Given the description of an element on the screen output the (x, y) to click on. 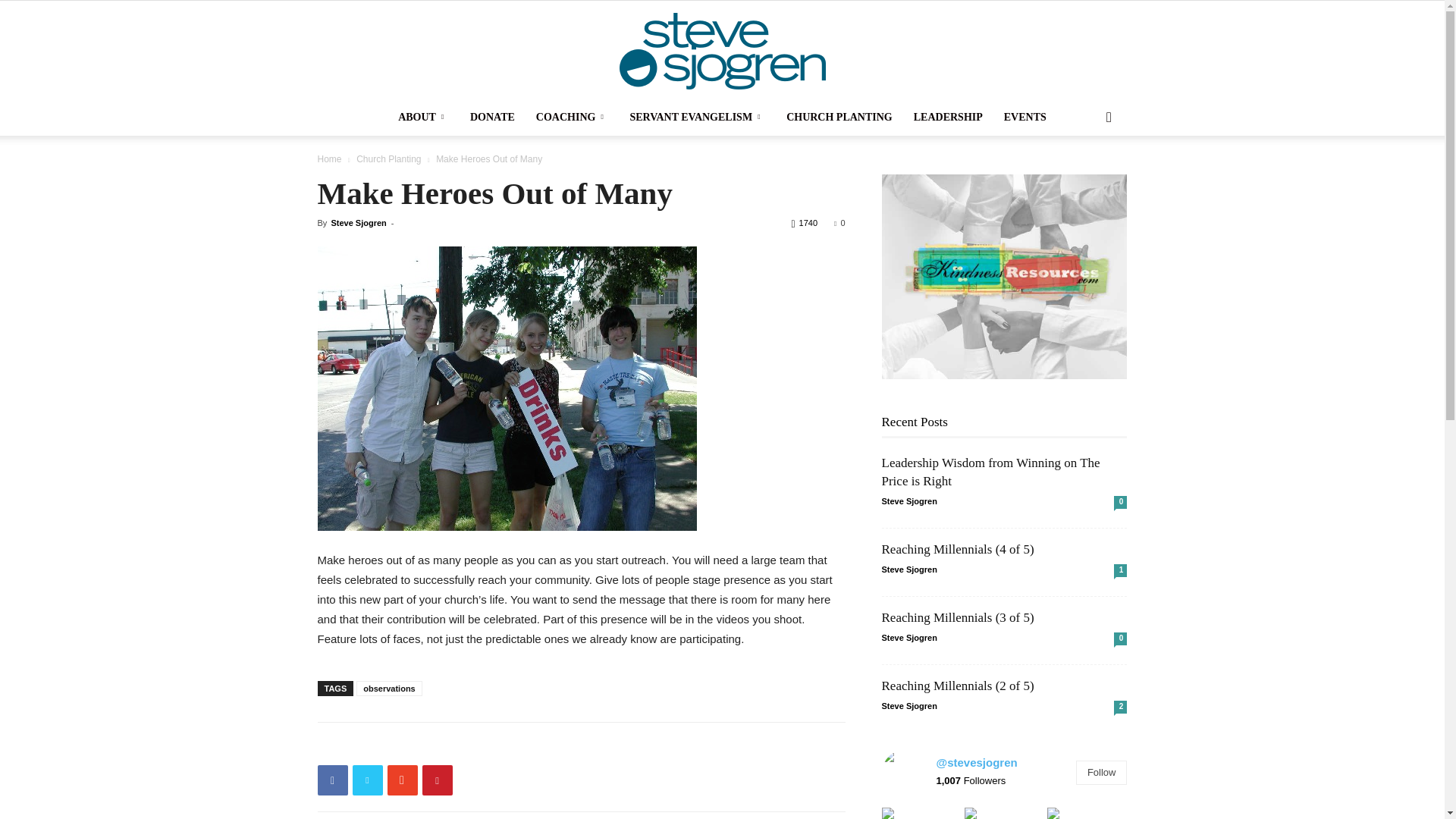
ABOUT (423, 117)
Steve Sjogren (721, 51)
DONATE (492, 117)
SERVANT EVANGELISM (697, 117)
View all posts in Church Planting (388, 158)
EVENTS (1024, 117)
water 3 group of 4 (506, 388)
LEADERSHIP (947, 117)
CHURCH PLANTING (839, 117)
COACHING (572, 117)
